Given the description of an element on the screen output the (x, y) to click on. 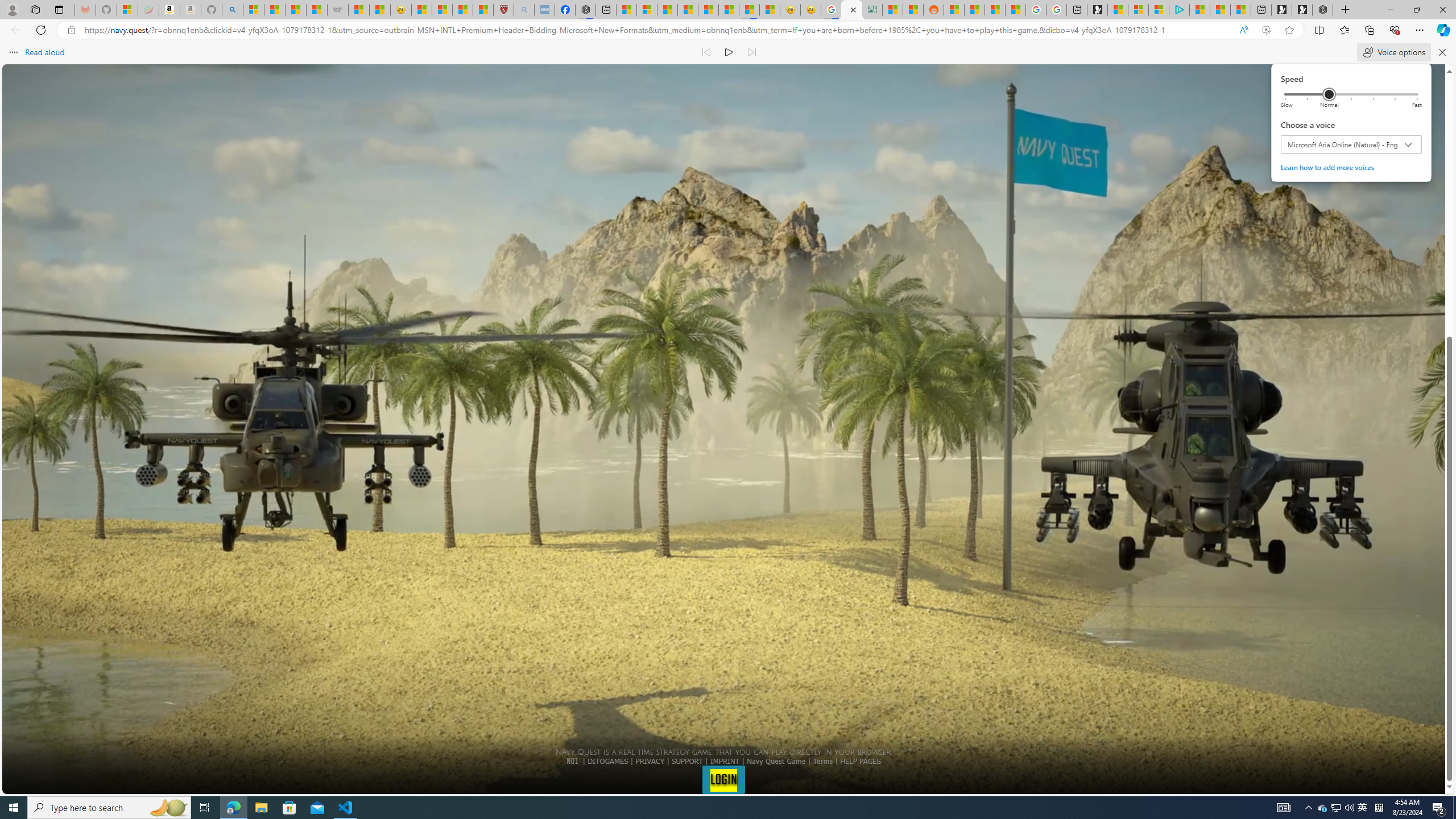
Q2790: 100% (1349, 807)
Start (1335, 807)
Read next paragraph (13, 807)
Notification Chevron (750, 52)
Continue to read aloud (Ctrl+Shift+U) (1308, 807)
list of asthma inhalers uk - Search - Sleeping (729, 52)
